Given the description of an element on the screen output the (x, y) to click on. 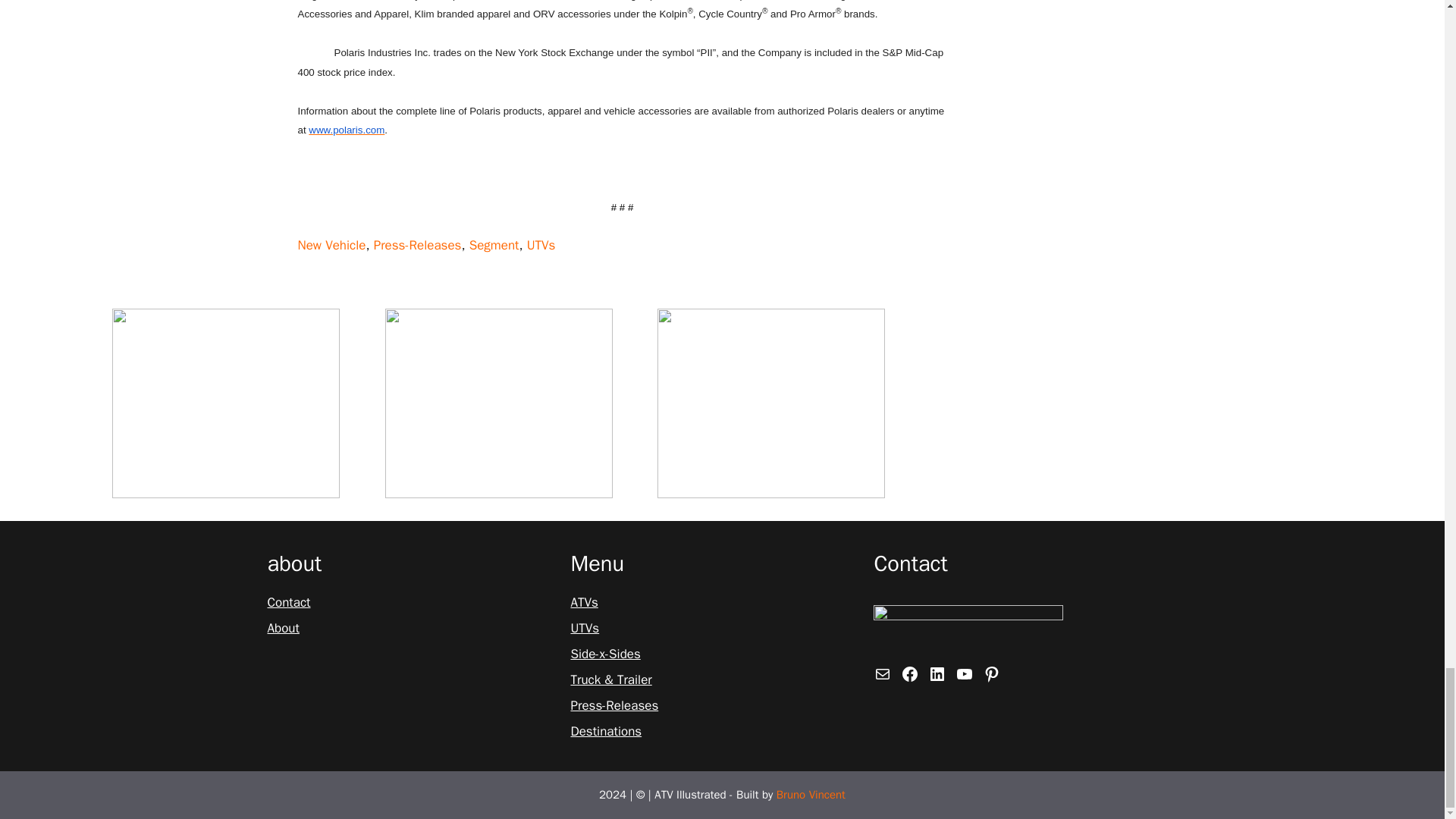
Logo-250-w (967, 629)
www.polaris.com (346, 129)
Segment (493, 245)
New Vehicle (331, 245)
Contact (288, 602)
UTVs (541, 245)
Press-Releases (417, 245)
